Given the description of an element on the screen output the (x, y) to click on. 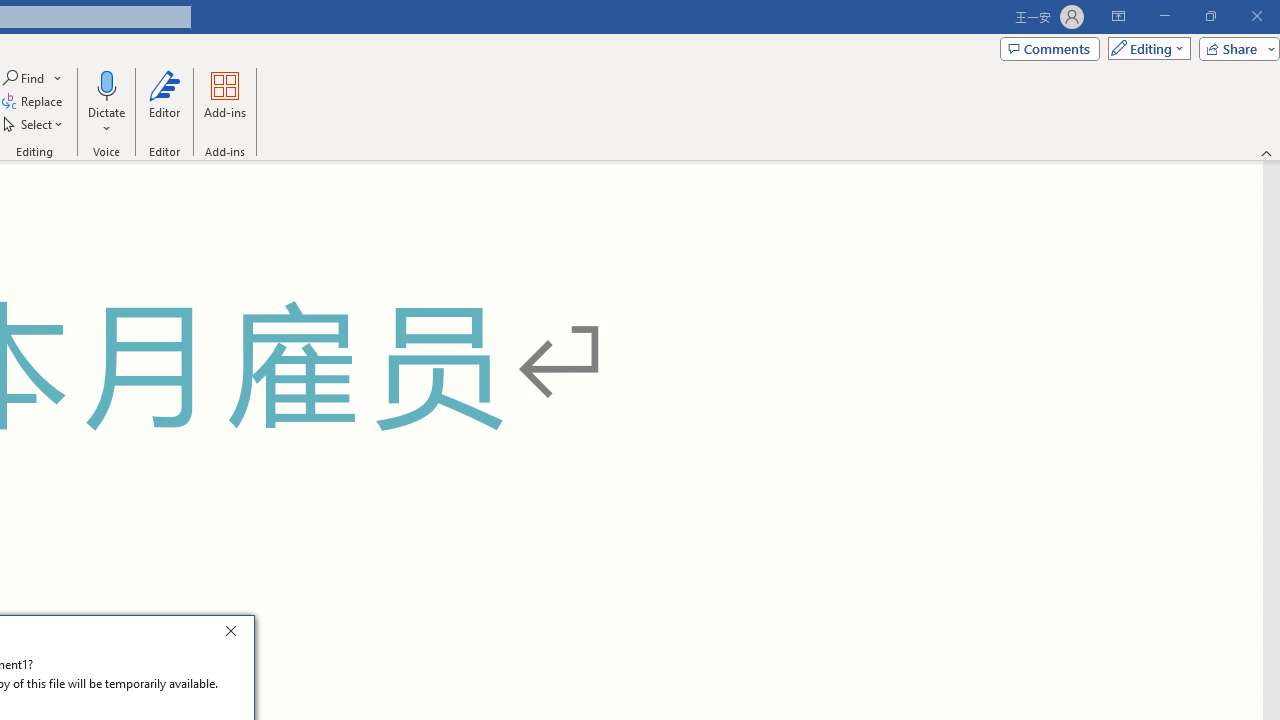
Share (1235, 48)
Collapse the Ribbon (1267, 152)
Restore Down (1210, 16)
Ribbon Display Options (1118, 16)
Comments (1049, 48)
More Options (106, 121)
Editing (1144, 47)
Close (236, 633)
Editor (164, 102)
Minimize (1164, 16)
Dictate (106, 84)
Dictate (106, 102)
